Given the description of an element on the screen output the (x, y) to click on. 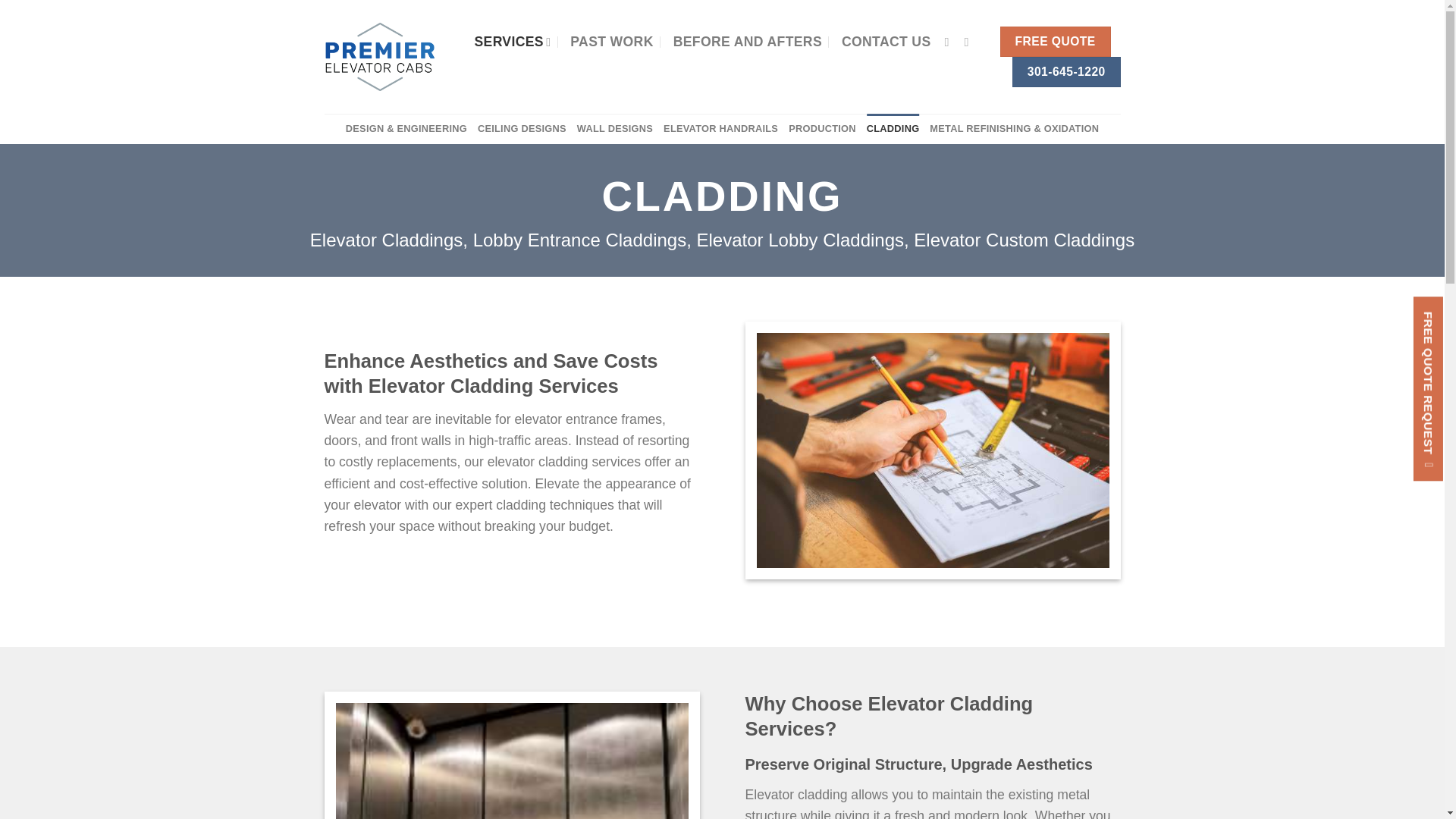
WALL DESIGNS (614, 128)
BEFORE AND AFTERS (747, 41)
PRODUCTION (822, 128)
Premier Elevator Cabs - Elevator Interiors At Their Finest (378, 56)
PAST WORK (611, 41)
CONTACT US (886, 41)
FREE QUOTE (1055, 41)
Elevator Services (512, 41)
CEILING DESIGNS (521, 128)
SERVICES (512, 41)
301-645-1220 (1065, 71)
Past Work (611, 41)
CLADDING (893, 128)
ELEVATOR HANDRAILS (720, 128)
